Given the description of an element on the screen output the (x, y) to click on. 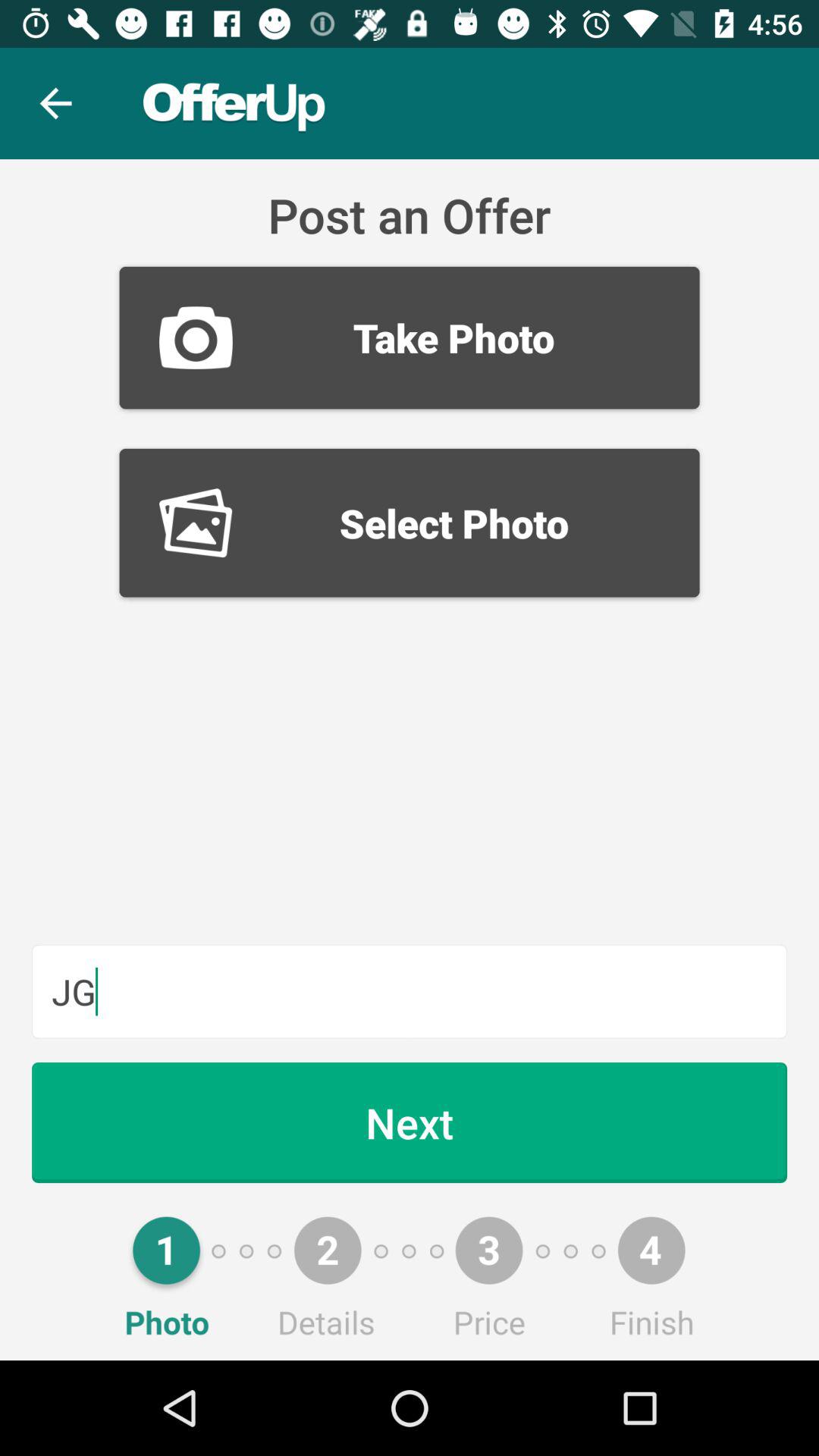
scroll to the jg item (409, 991)
